Given the description of an element on the screen output the (x, y) to click on. 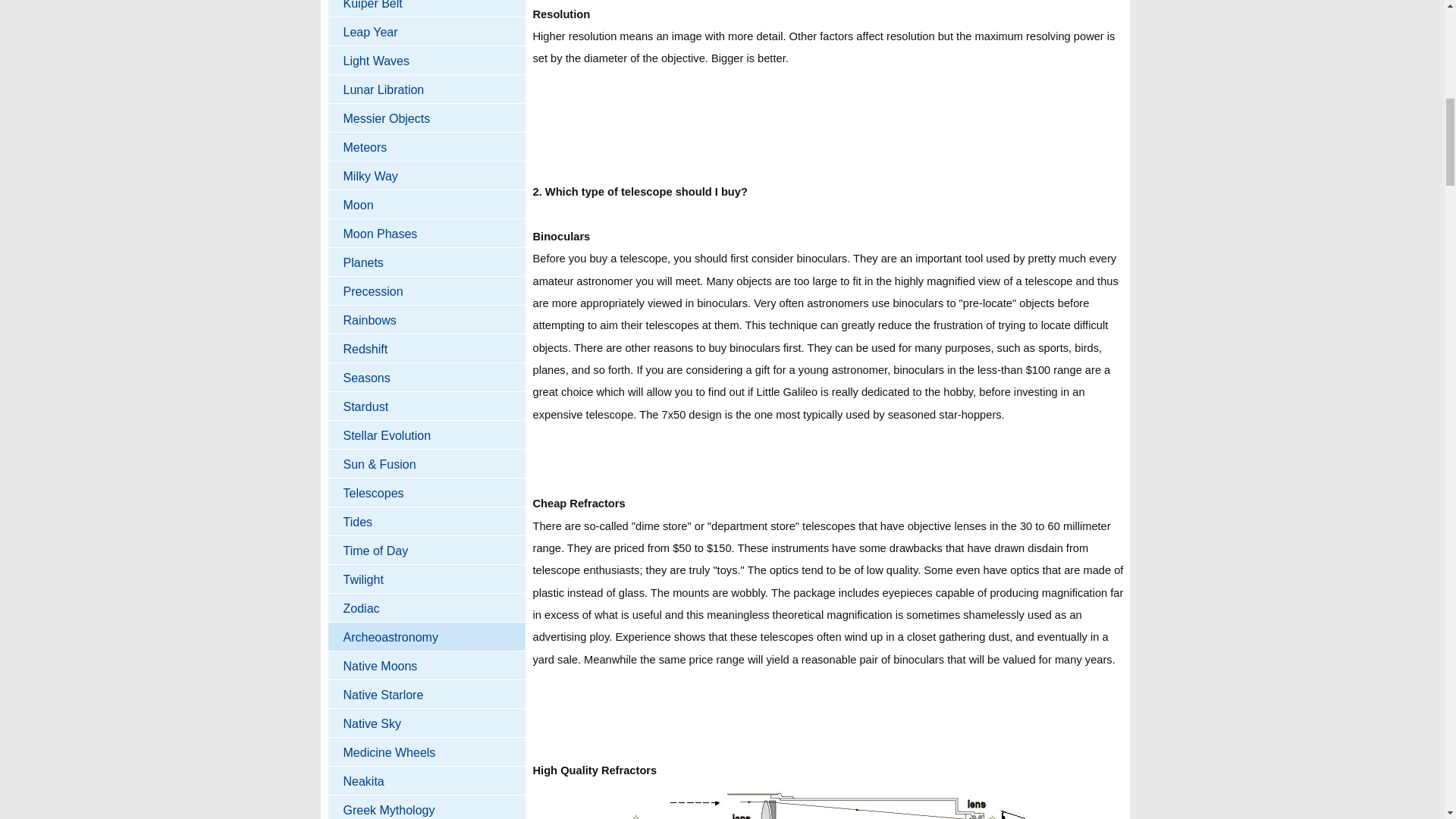
Kuiper Belt (425, 8)
Leap Year (425, 31)
Light Waves (425, 60)
